Given the description of an element on the screen output the (x, y) to click on. 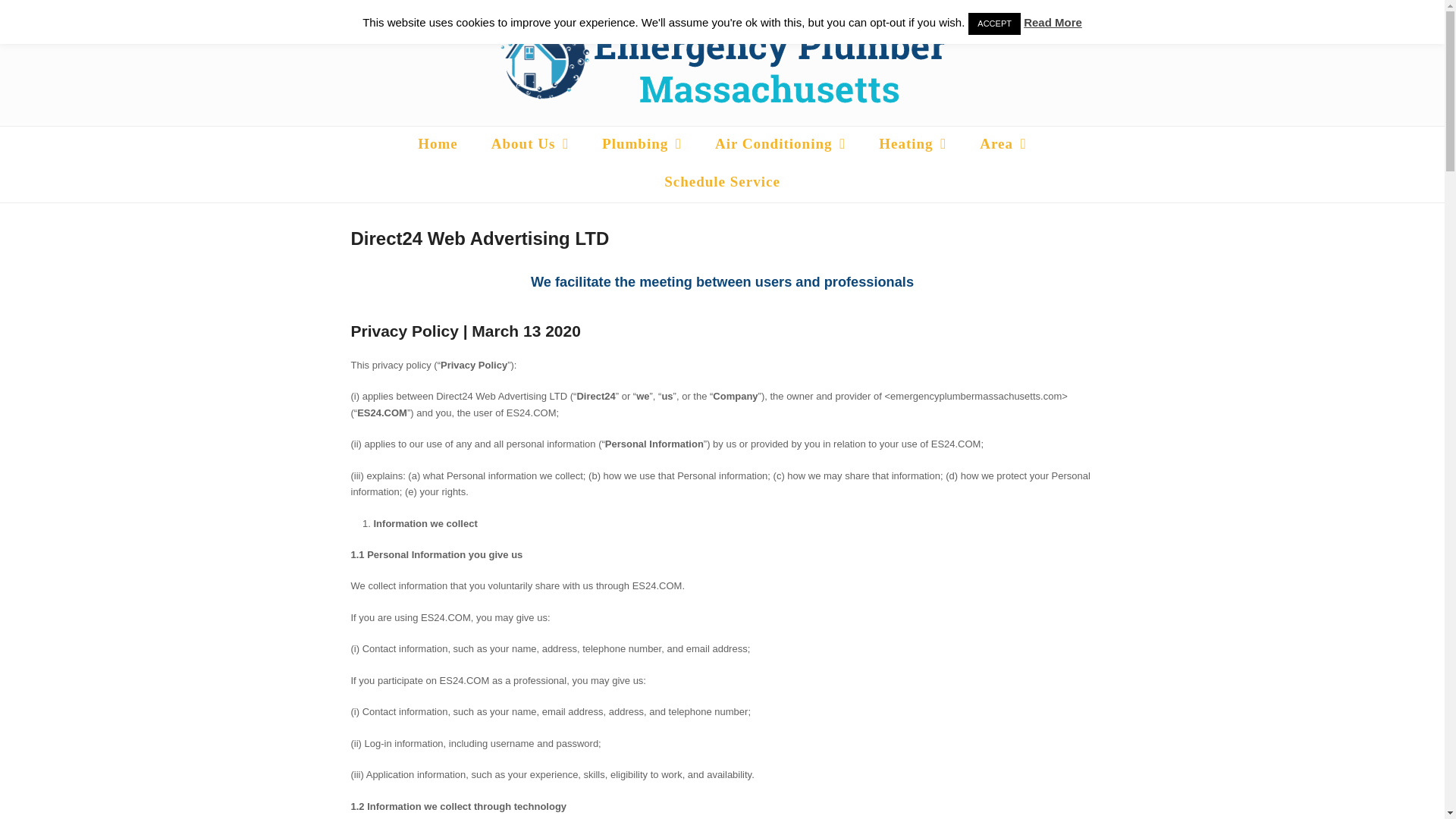
Plumber Massachusetts (530, 145)
Heating Massachusetts (911, 145)
Schedule Service (721, 183)
Home (438, 145)
Service Area Massachusetts (1002, 145)
Plumbing (641, 145)
Air Conditioning Massachusetts (780, 145)
About Us (530, 145)
Plumbing Services Massachusetts (641, 145)
Heating (911, 145)
Air Conditioning (780, 145)
Area (1002, 145)
Emergency Plumber Massachusetts (438, 145)
